Given the description of an element on the screen output the (x, y) to click on. 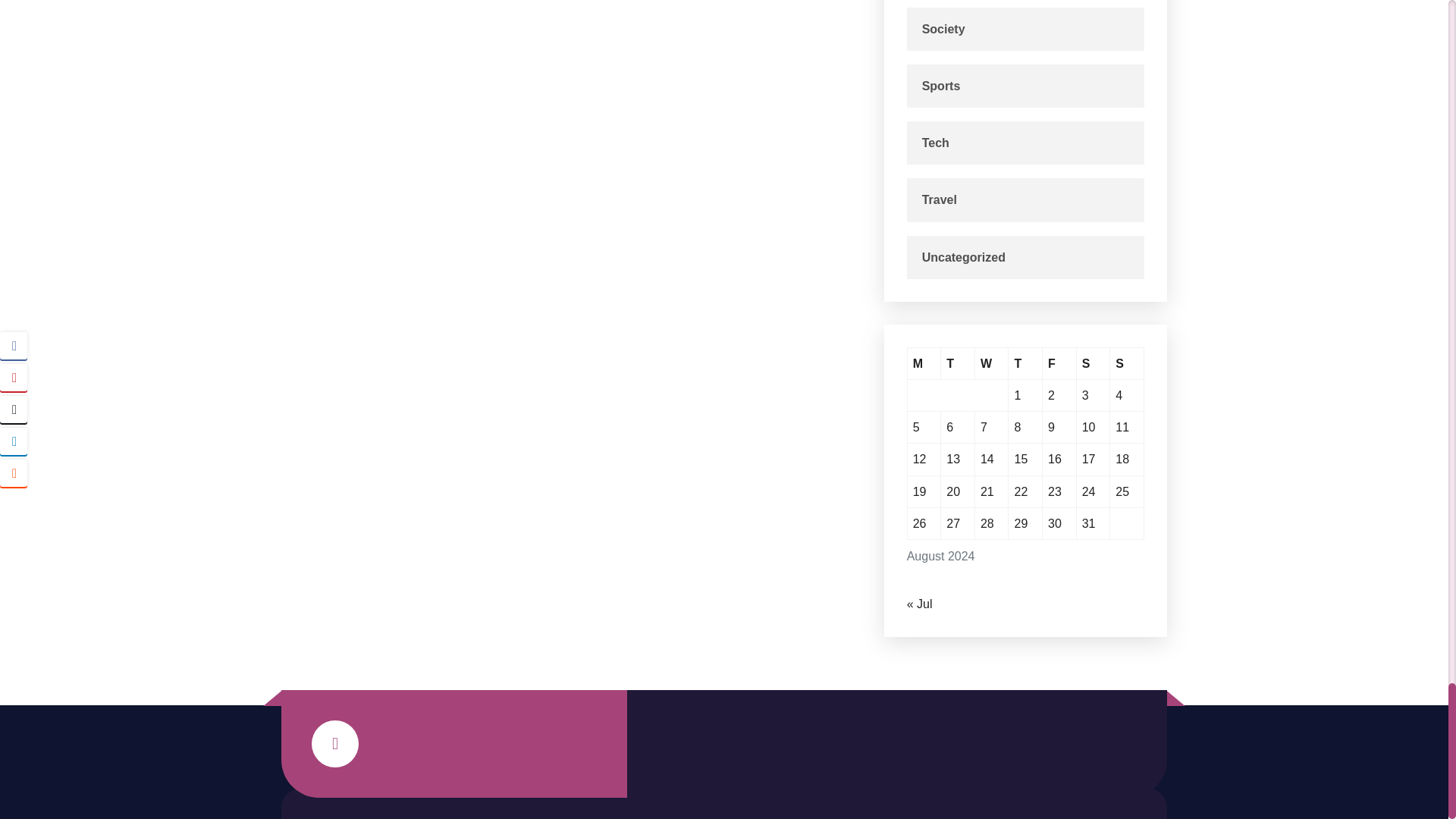
Sunday (1126, 364)
Saturday (1093, 364)
Thursday (1025, 364)
Friday (1059, 364)
Monday (924, 364)
Wednesday (992, 364)
Tuesday (957, 364)
